Given the description of an element on the screen output the (x, y) to click on. 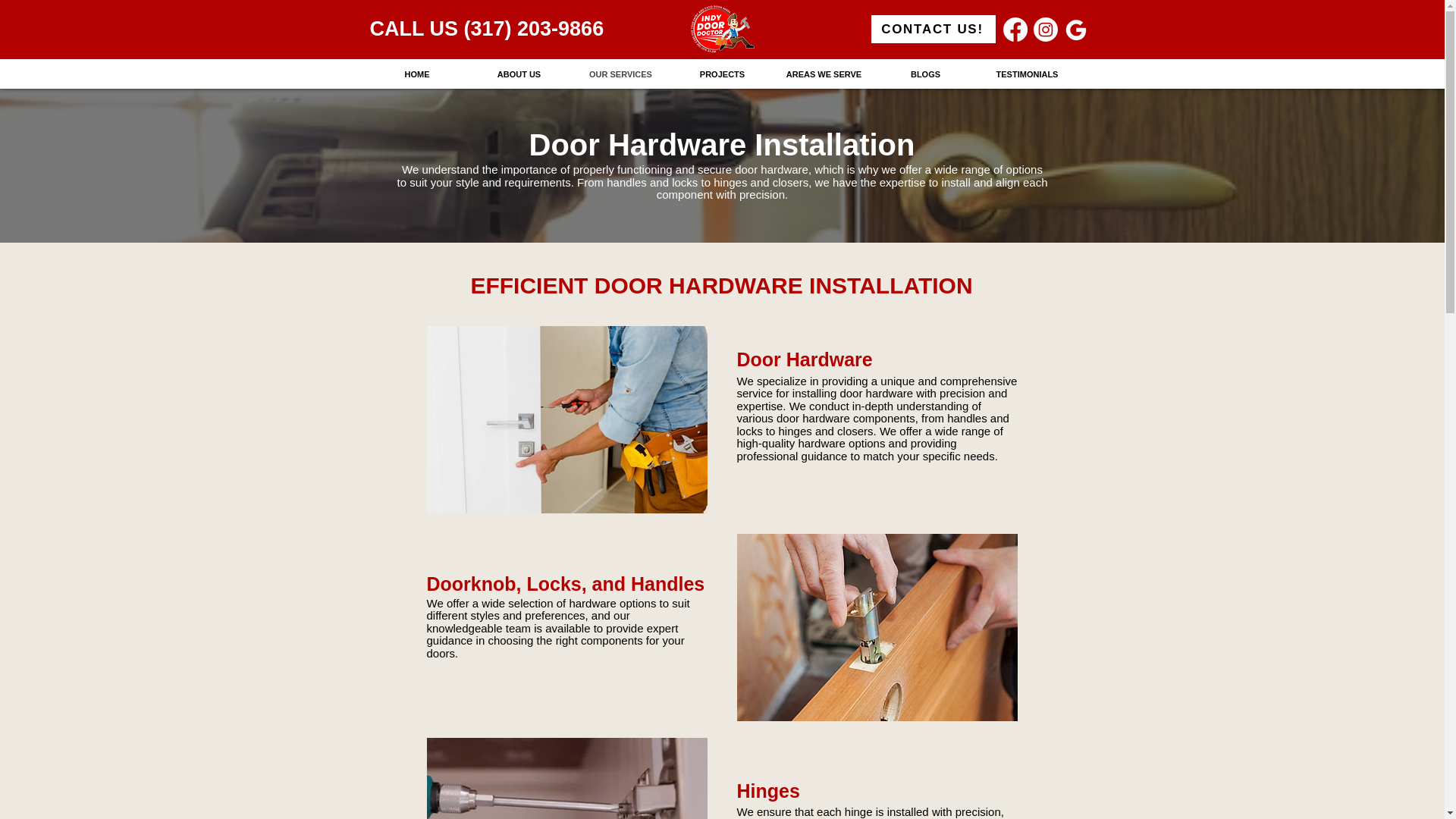
HOME (416, 74)
ABOUT US (519, 74)
CONTACT US! (932, 29)
PROJECTS (722, 74)
OUR SERVICES (620, 74)
AREAS WE SERVE (824, 74)
TESTIMONIALS (1027, 74)
BLOGS (925, 74)
